Given the description of an element on the screen output the (x, y) to click on. 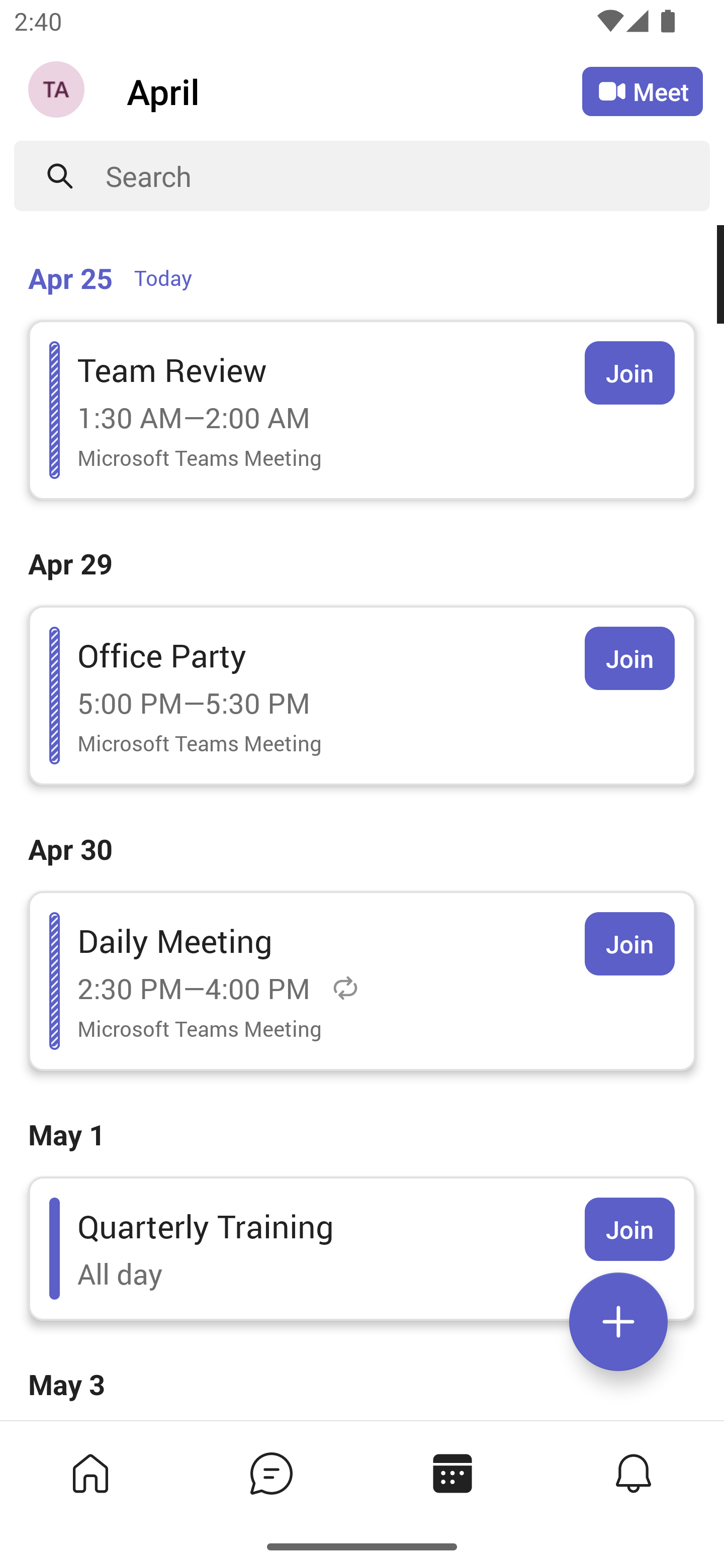
Navigation (58, 91)
Meet Meet now or join with an ID (642, 91)
April April Calendar Agenda View (354, 90)
Search (407, 176)
Join (629, 372)
Join (629, 658)
Join (629, 943)
Join (629, 1228)
Expand meetings menu (618, 1321)
Home tab,1 of 4, not selected (90, 1472)
Chat tab,2 of 4, not selected (271, 1472)
Calendar tab, 3 of 4 (452, 1472)
Activity tab,4 of 4, not selected (633, 1472)
